Given the description of an element on the screen output the (x, y) to click on. 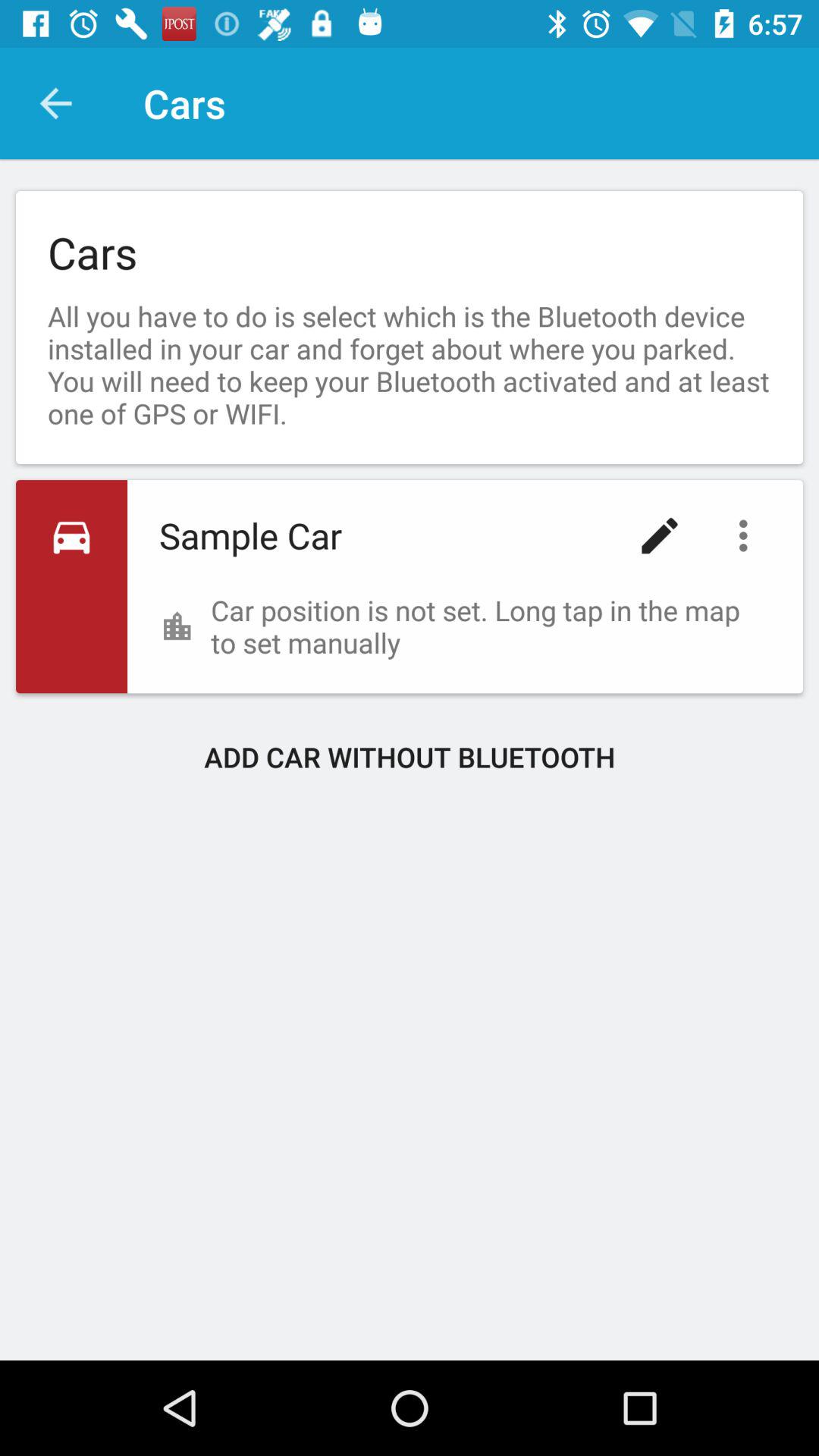
open icon next to the sample car (659, 535)
